Given the description of an element on the screen output the (x, y) to click on. 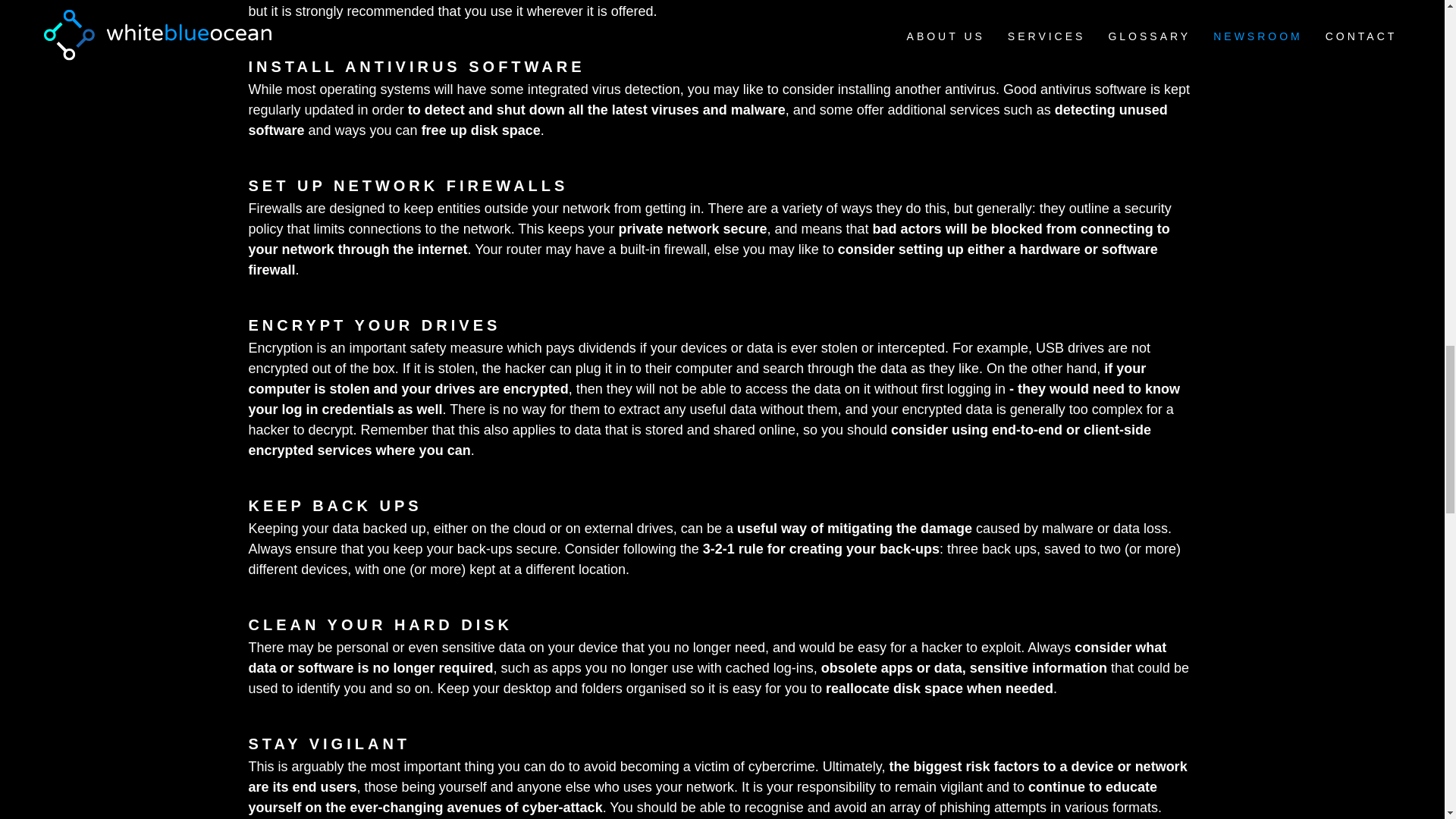
encrypted (278, 368)
malware (758, 109)
viruses (674, 109)
bad actors (907, 228)
